Given the description of an element on the screen output the (x, y) to click on. 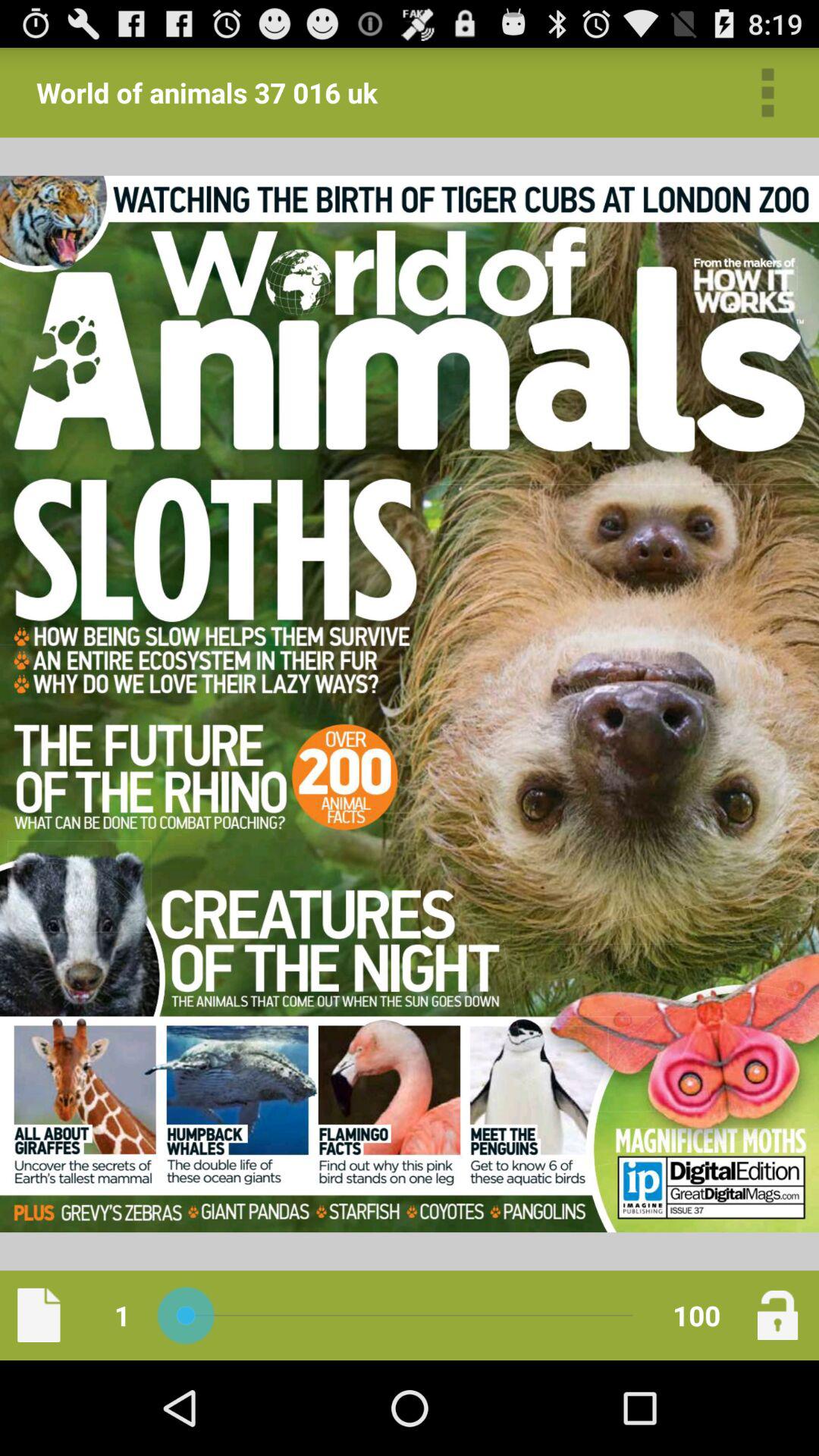
tap icon to the right of 100 item (777, 1315)
